Given the description of an element on the screen output the (x, y) to click on. 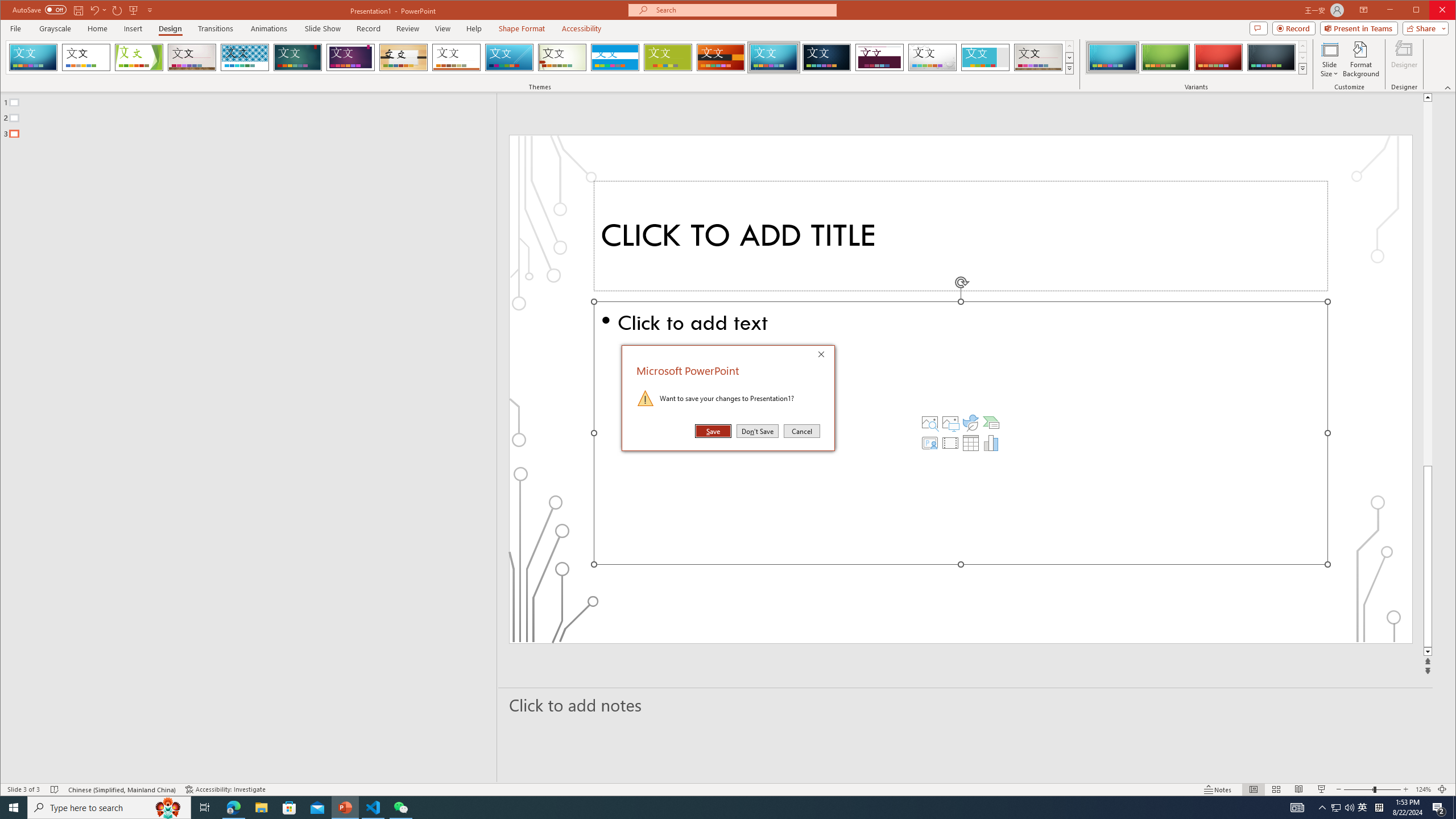
Microsoft search (742, 10)
Grayscale (55, 28)
Circuit Variant 3 (1218, 57)
PowerPoint - 1 running window (345, 807)
Shape Format (1362, 807)
Rectangle (521, 28)
WeChat - 1 running window (242, 436)
Ion (400, 807)
